Given the description of an element on the screen output the (x, y) to click on. 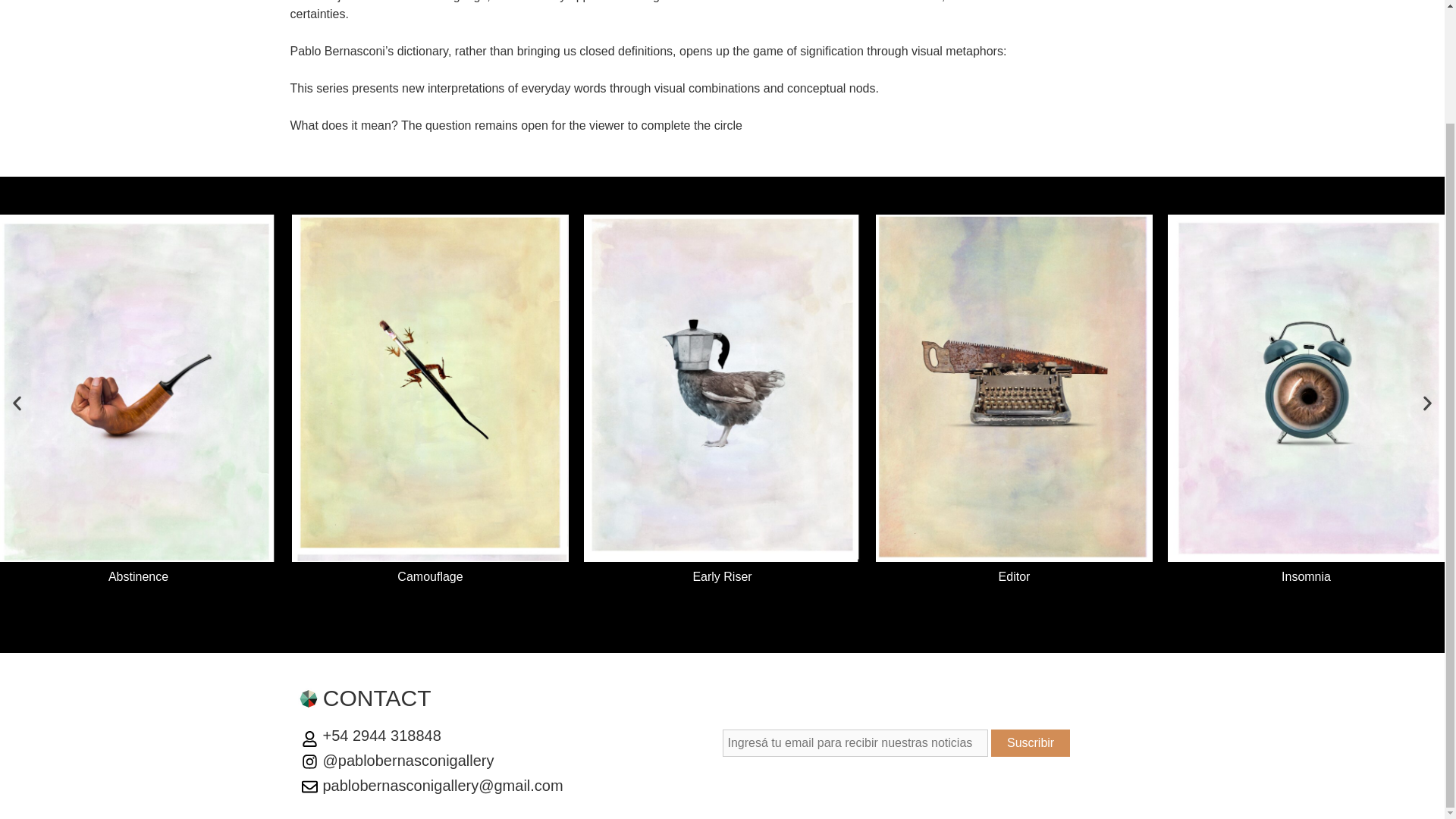
Suscribir (1030, 742)
